Given the description of an element on the screen output the (x, y) to click on. 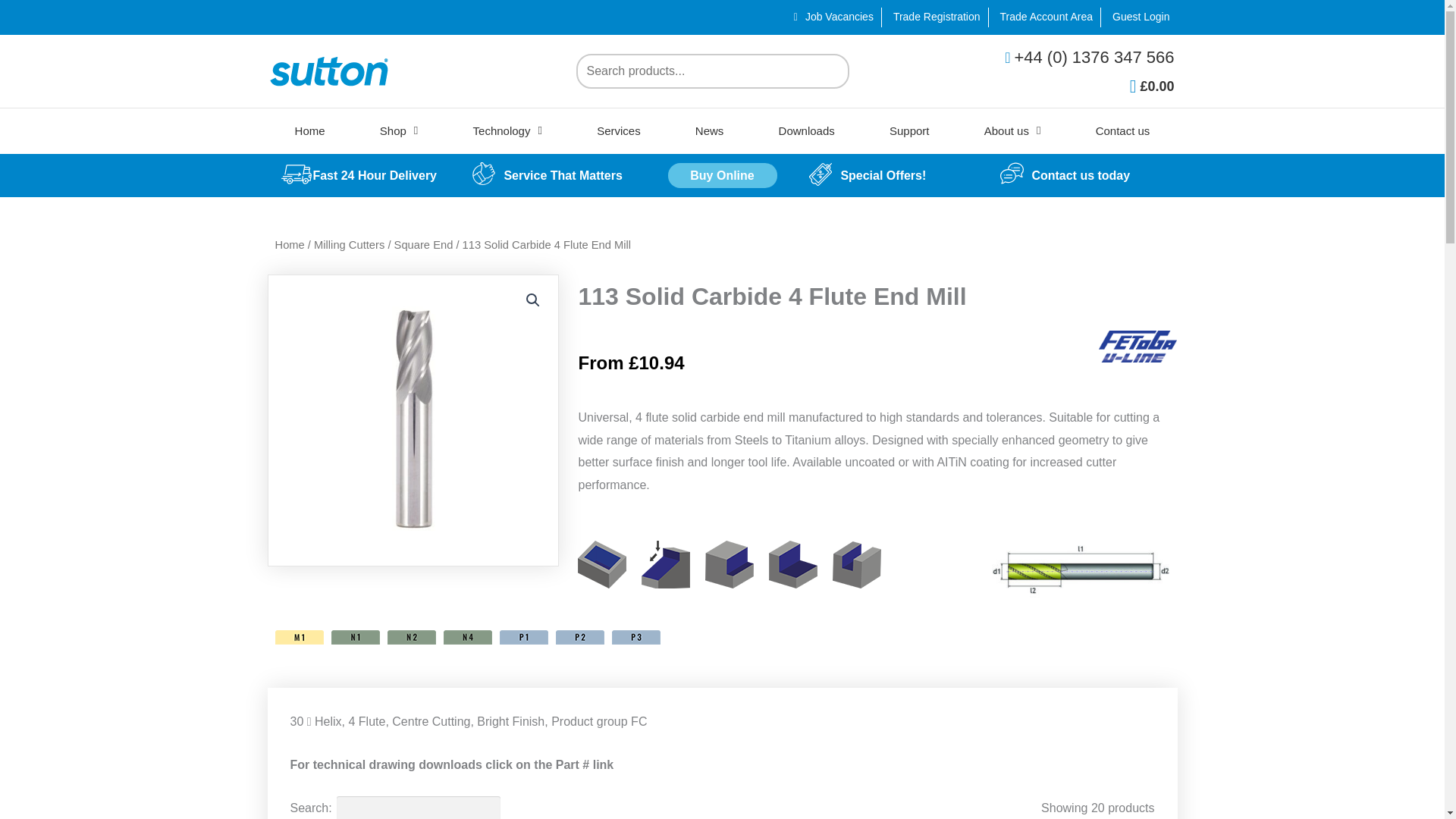
Contact us (1122, 130)
Trade Registration (934, 17)
Shop (398, 130)
News (709, 130)
Support (908, 130)
Technology (507, 130)
Services (618, 130)
About us (1012, 130)
Home (309, 130)
Downloads (806, 130)
Job Vacancies (833, 17)
FETOGA U 113 (413, 420)
Guest Login (1139, 17)
Trade Account Area (1044, 17)
